Given the description of an element on the screen output the (x, y) to click on. 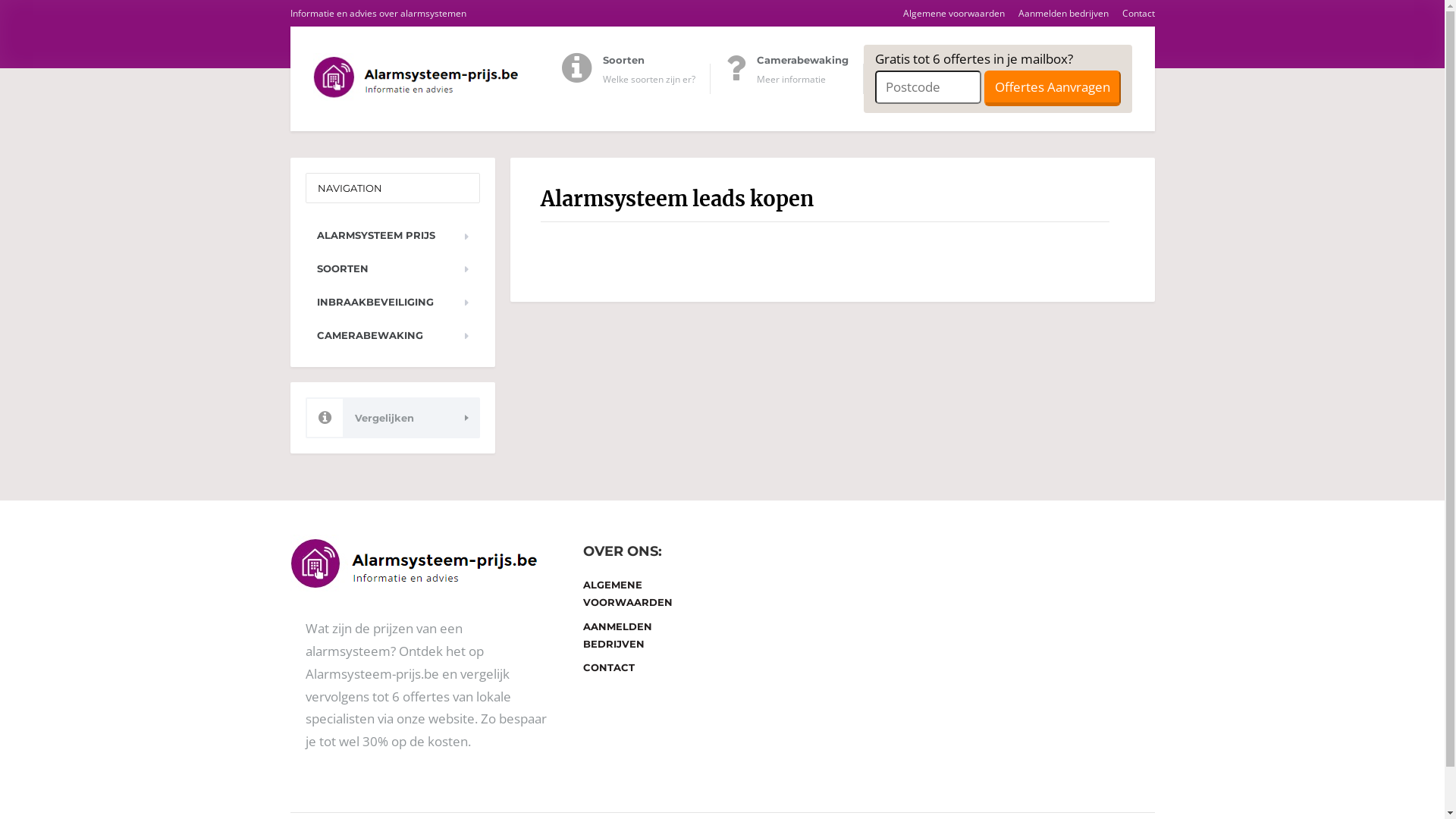
INBRAAKBEVEILIGING Element type: text (391, 301)
Aanmelden bedrijven Element type: text (1057, 13)
CAMERABEWAKING Element type: text (391, 334)
Algemene voorwaarden Element type: text (947, 13)
Soorten
Welke soorten zijn er? Element type: text (635, 78)
Camerabewaking
Meer informatie Element type: text (793, 78)
SOORTEN Element type: text (391, 268)
AANMELDEN BEDRIJVEN Element type: text (648, 635)
ALGEMENE VOORWAARDEN Element type: text (648, 594)
Contact Element type: text (1132, 13)
Offertes Aanvragen Element type: text (1052, 88)
CONTACT Element type: text (648, 667)
ALARMSYSTEEM PRIJS Element type: text (391, 235)
Vergelijken Element type: text (391, 417)
